Given the description of an element on the screen output the (x, y) to click on. 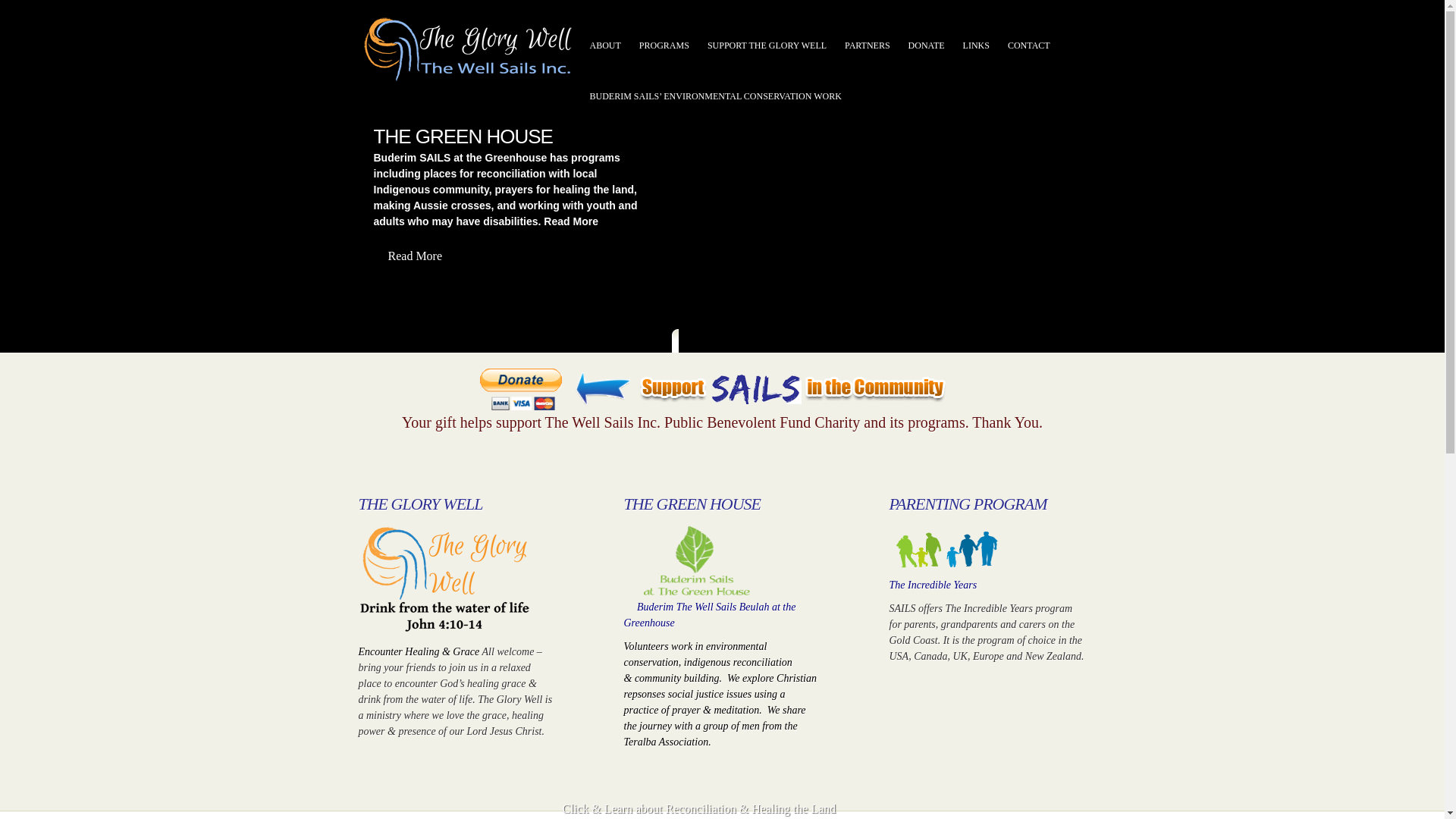
THE GREEN HOUSE Element type: text (462, 136)
4 Element type: text (736, 342)
well_logo_trans_small Element type: hover (443, 579)
PROGRAMS Element type: text (663, 45)
Buderim The Well Sails Beulah at the Greenhouse Element type: text (709, 614)
The Incredible Years Element type: text (932, 584)
Parenting Programs Element type: hover (946, 549)
SUPPORT THE GLORY WELL Element type: text (766, 45)
5 Element type: text (751, 342)
ABOUT Element type: text (605, 45)
LINKS Element type: text (976, 45)
PARTNERS Element type: text (867, 45)
DONATE Element type: text (926, 45)
1 Element type: text (689, 342)
CONTACT Element type: text (1028, 45)
Read More Element type: text (414, 257)
2 Element type: text (705, 342)
3 Element type: text (721, 342)
The Green House Element type: hover (693, 560)
6 Element type: text (767, 342)
